Given the description of an element on the screen output the (x, y) to click on. 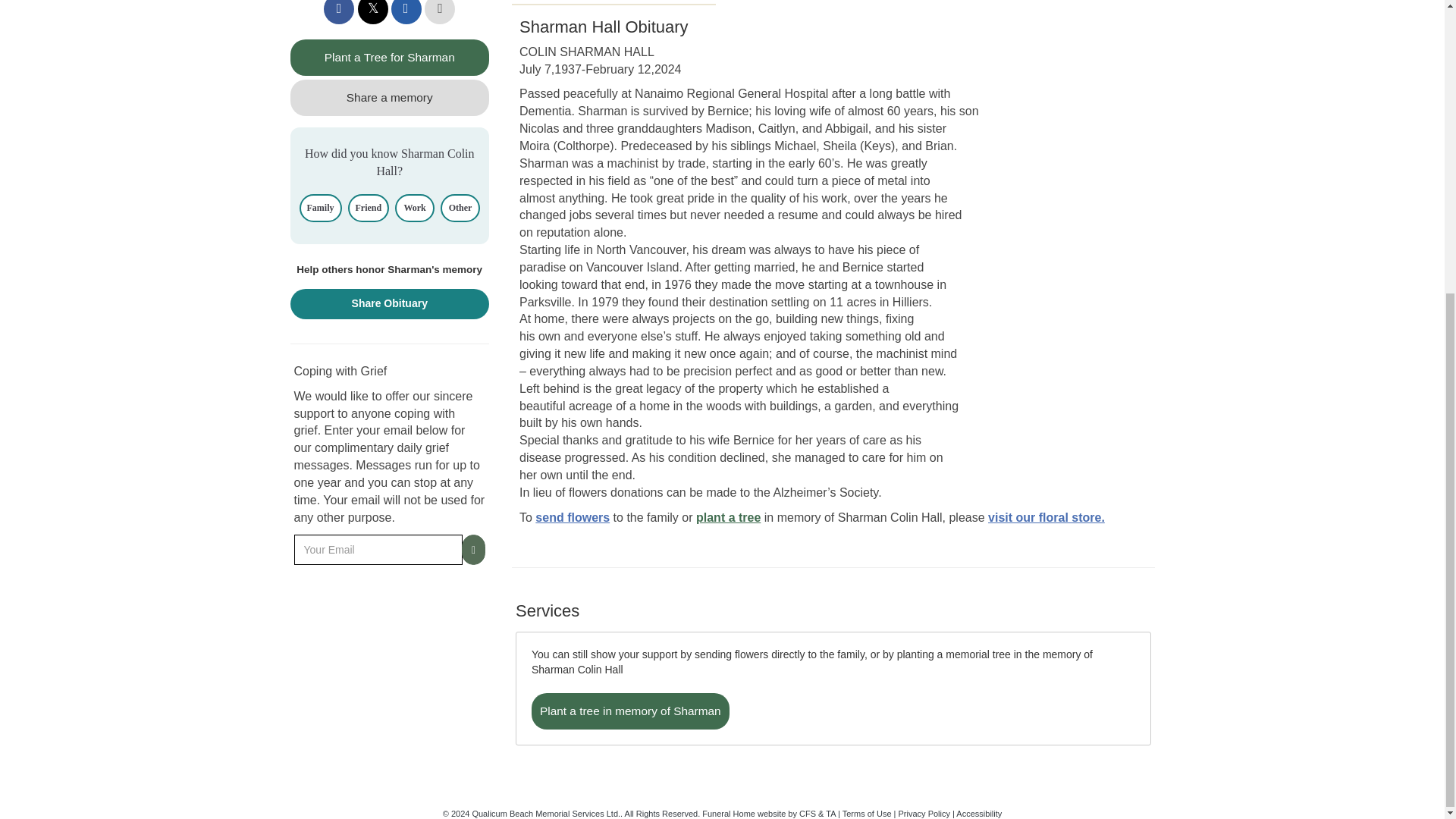
Share via email (406, 12)
Share to Facebook (338, 12)
Share on X (373, 12)
send flowers (572, 517)
CFS (807, 813)
Plant a Tree for Sharman (389, 57)
Share a memory (389, 97)
Accessibility (978, 813)
plant a tree (727, 517)
TA (830, 813)
